Given the description of an element on the screen output the (x, y) to click on. 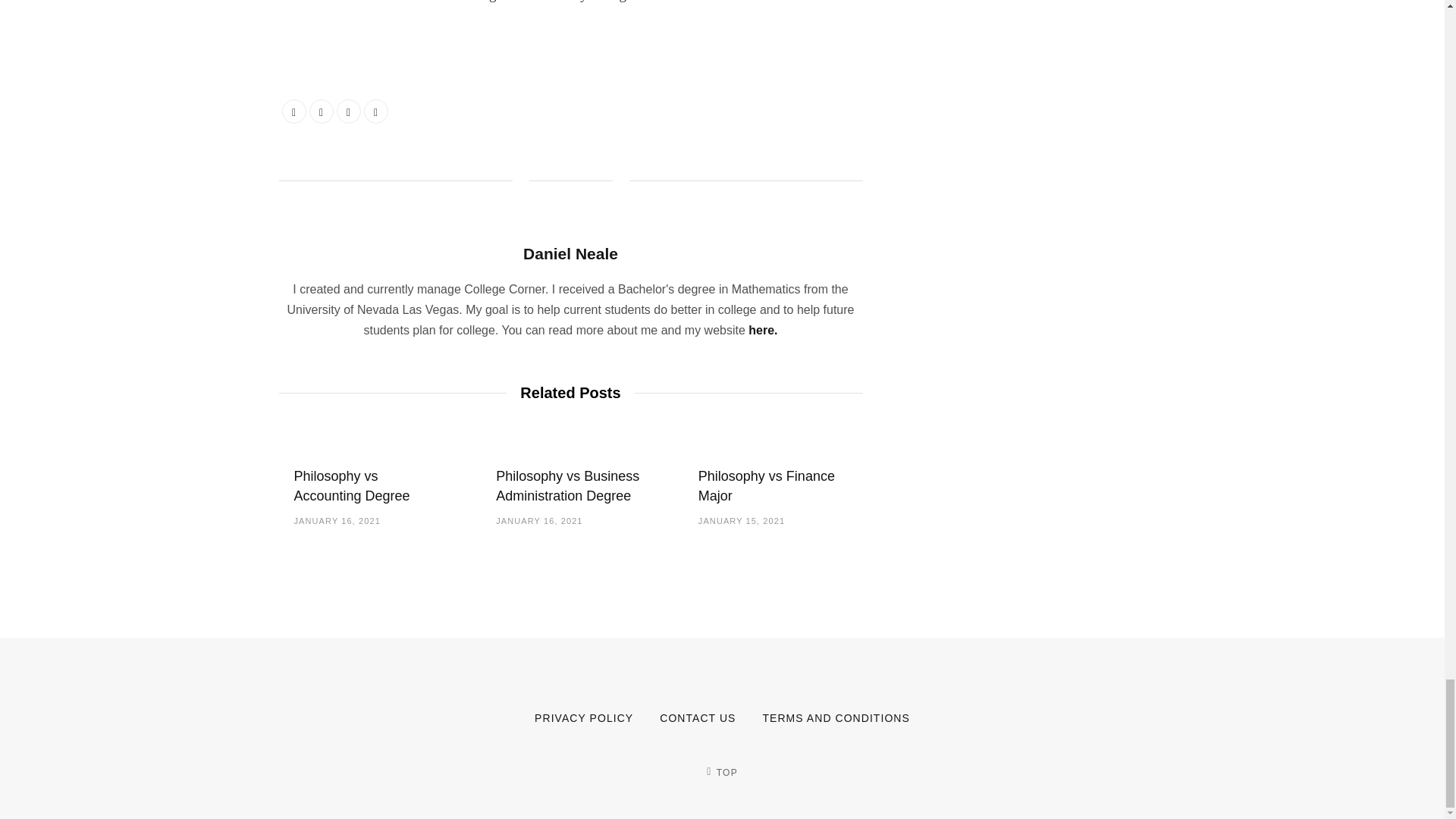
CONTACT US (697, 717)
TOP (721, 772)
LinkedIn (348, 111)
Posts by Daniel Neale (569, 253)
here. (762, 329)
Philosophy vs Accounting Degree (352, 485)
Pinterest (376, 111)
Share on Twitter (320, 111)
Share on Facebook (293, 111)
PRIVACY POLICY (583, 717)
